Given the description of an element on the screen output the (x, y) to click on. 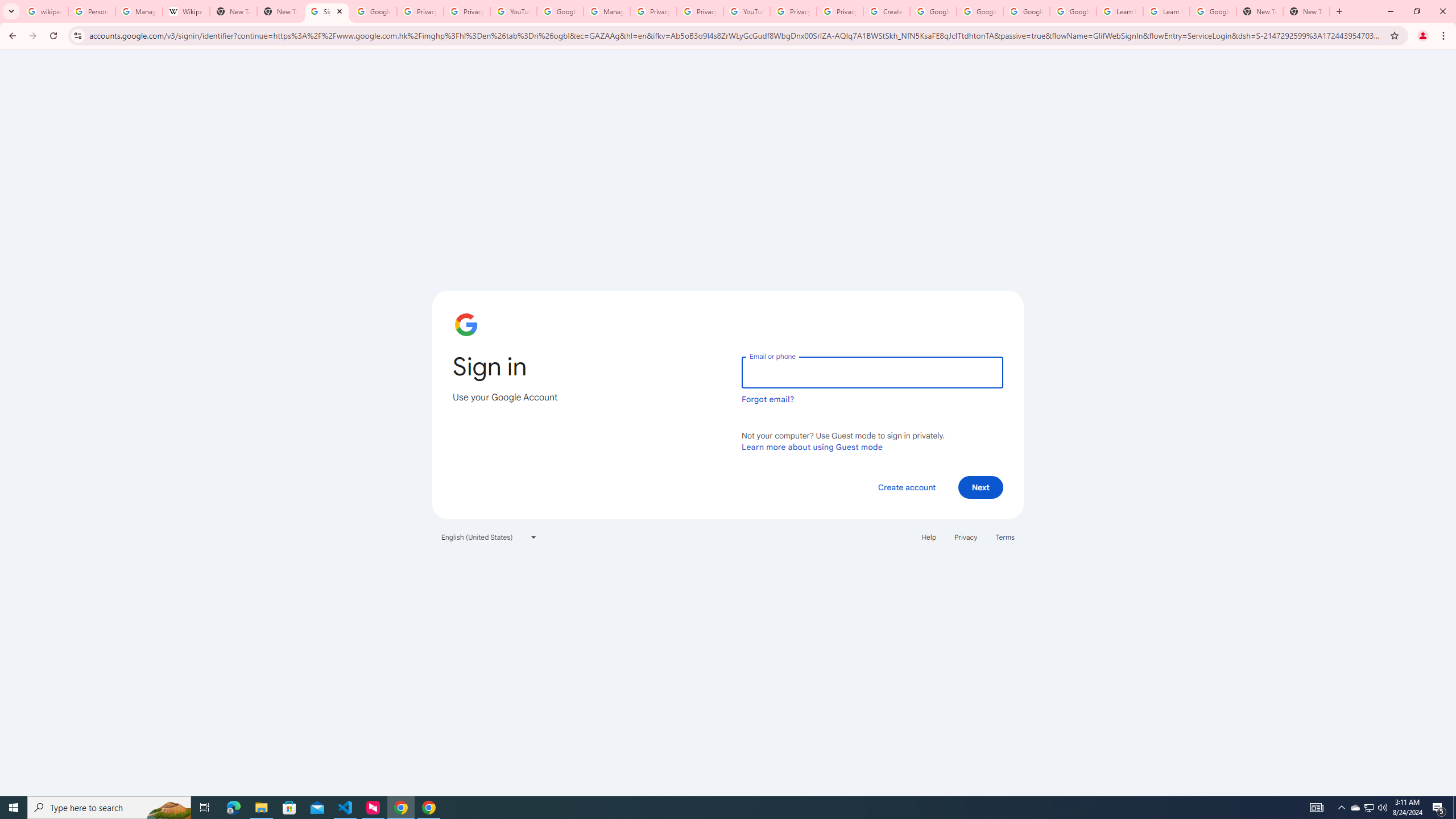
Wikipedia:Edit requests - Wikipedia (186, 11)
Google Drive: Sign-in (373, 11)
New Tab (1306, 11)
Google Account Help (559, 11)
Email or phone (871, 372)
Google Account Help (1073, 11)
Google Account Help (1026, 11)
Google Account (1213, 11)
